Given the description of an element on the screen output the (x, y) to click on. 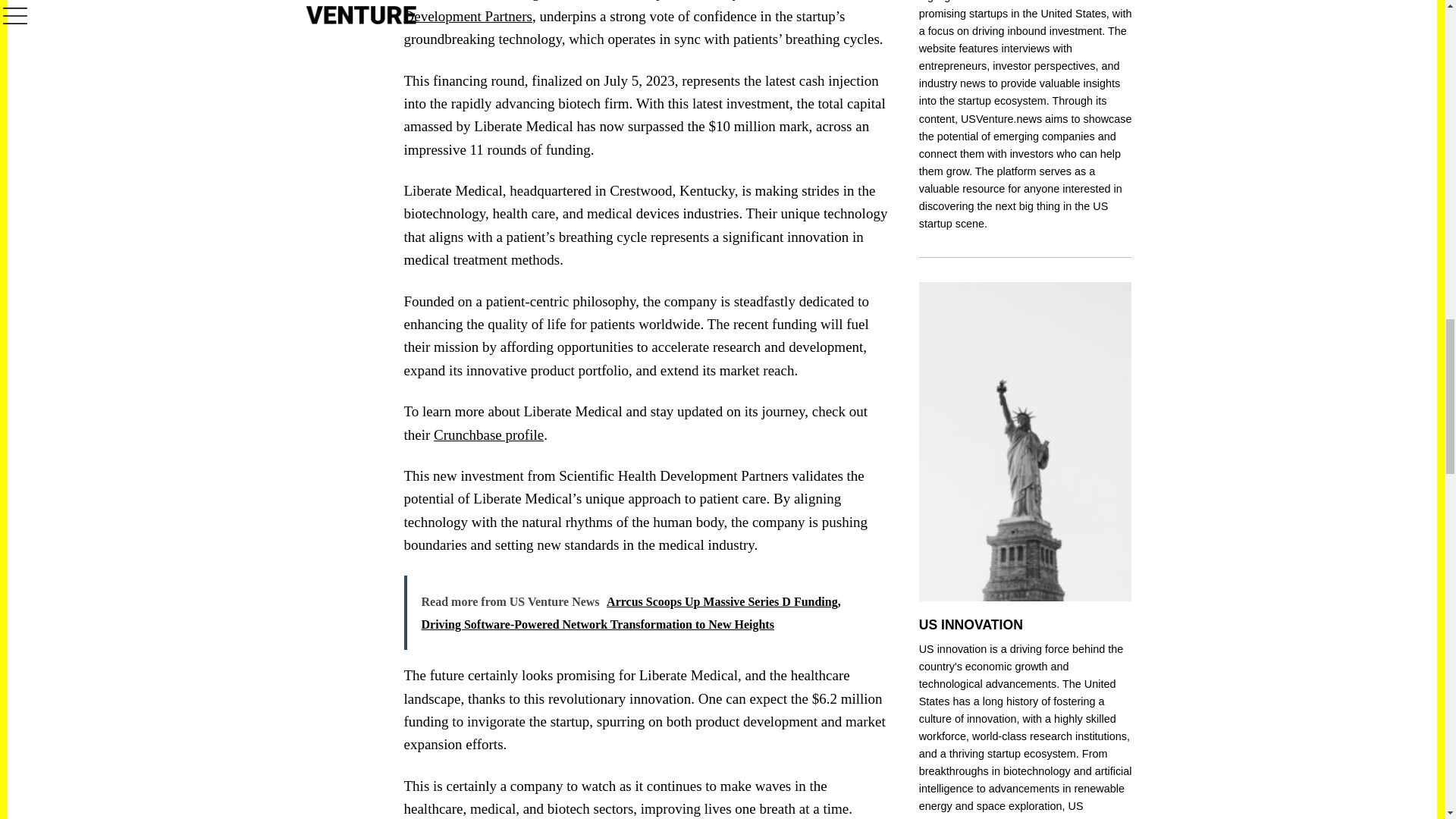
Crunchbase profile (488, 434)
Scientific Health Development Partners (621, 11)
